Given the description of an element on the screen output the (x, y) to click on. 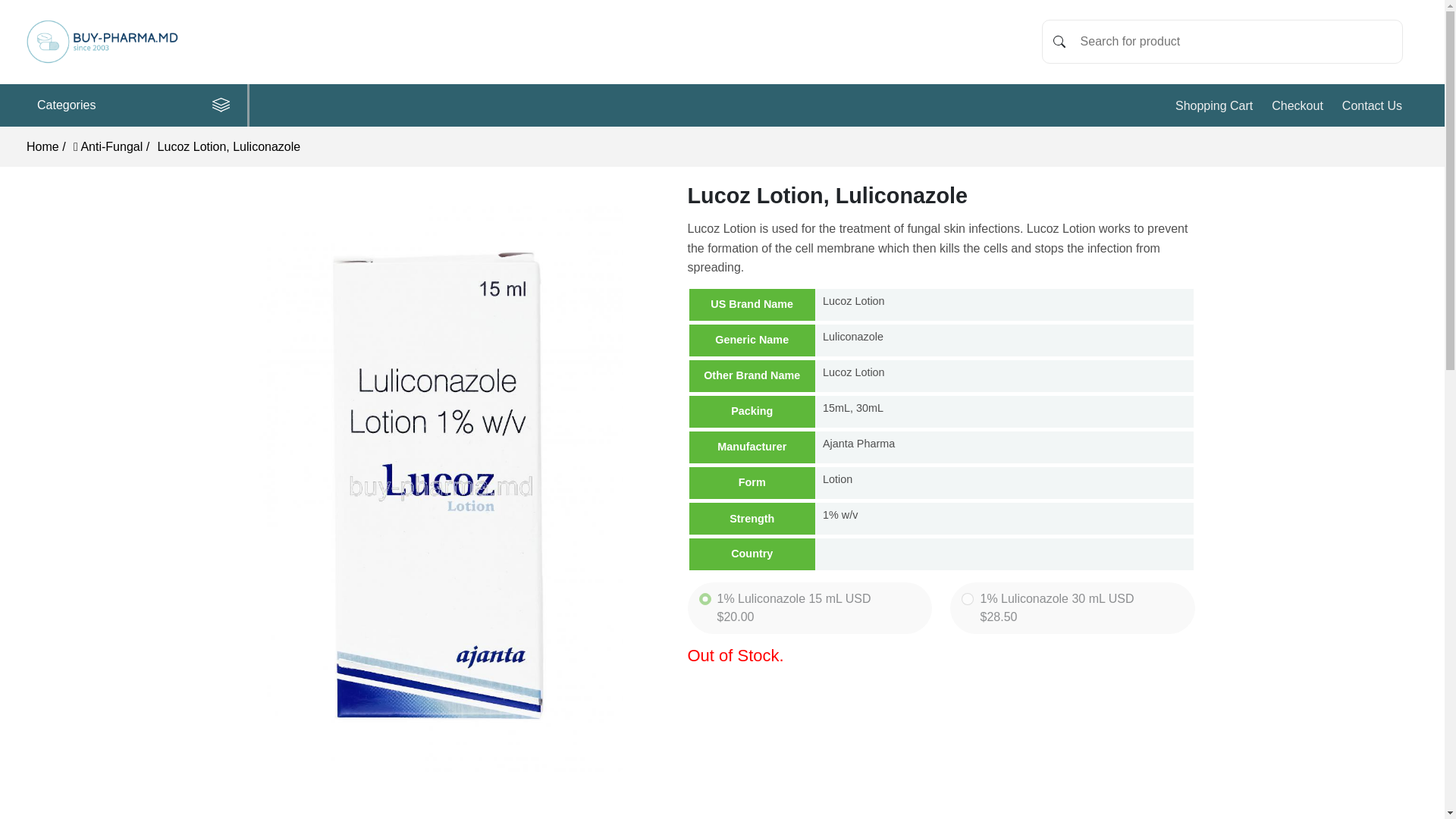
8193 (967, 598)
Categories (138, 105)
8192 (704, 598)
